Given the description of an element on the screen output the (x, y) to click on. 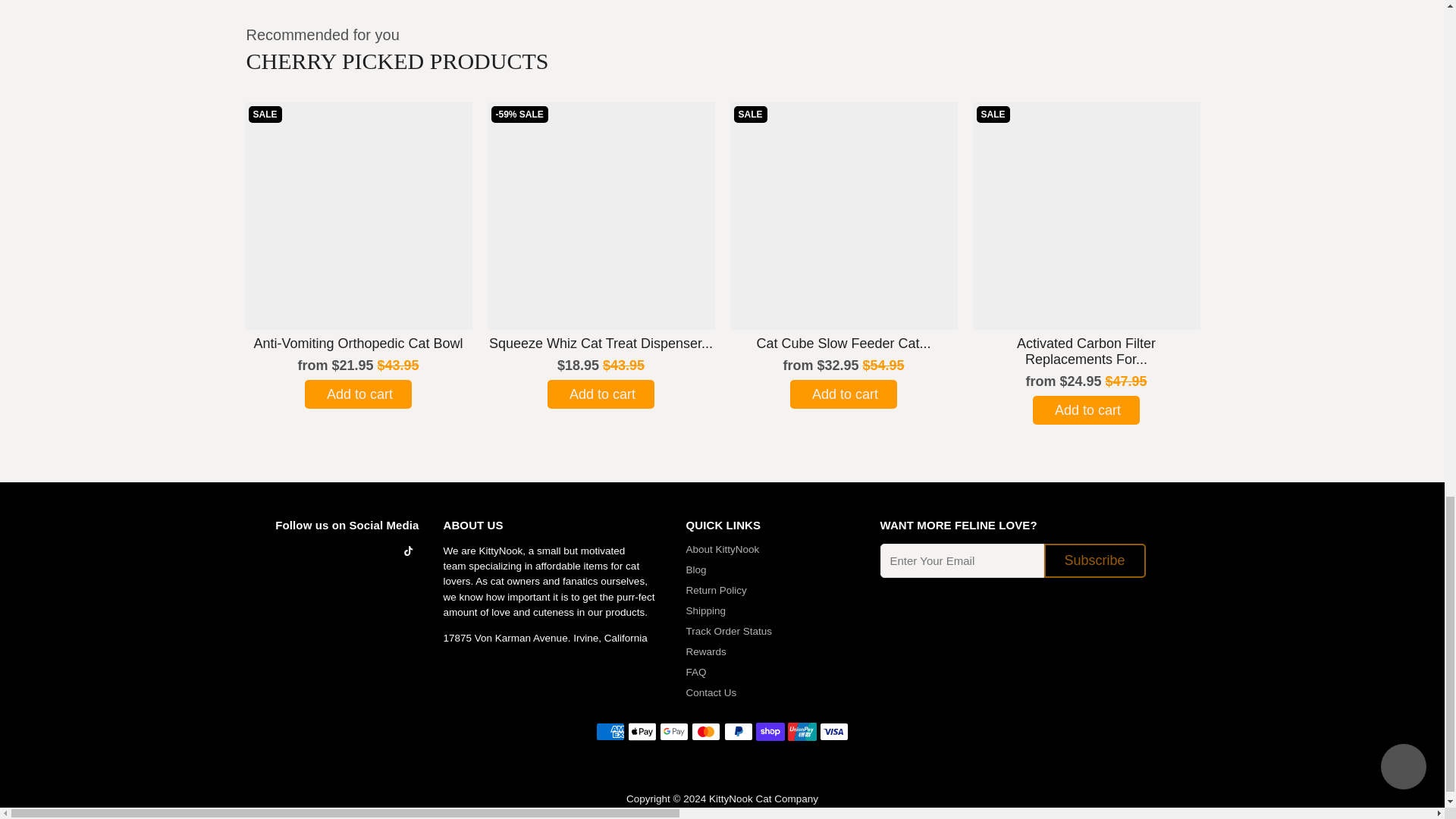
Shop Pay (769, 731)
Apple Pay (641, 731)
Union Pay (801, 731)
PayPal (737, 731)
Visa (833, 731)
American Express (609, 731)
Google Pay (673, 731)
Mastercard (705, 731)
